Given the description of an element on the screen output the (x, y) to click on. 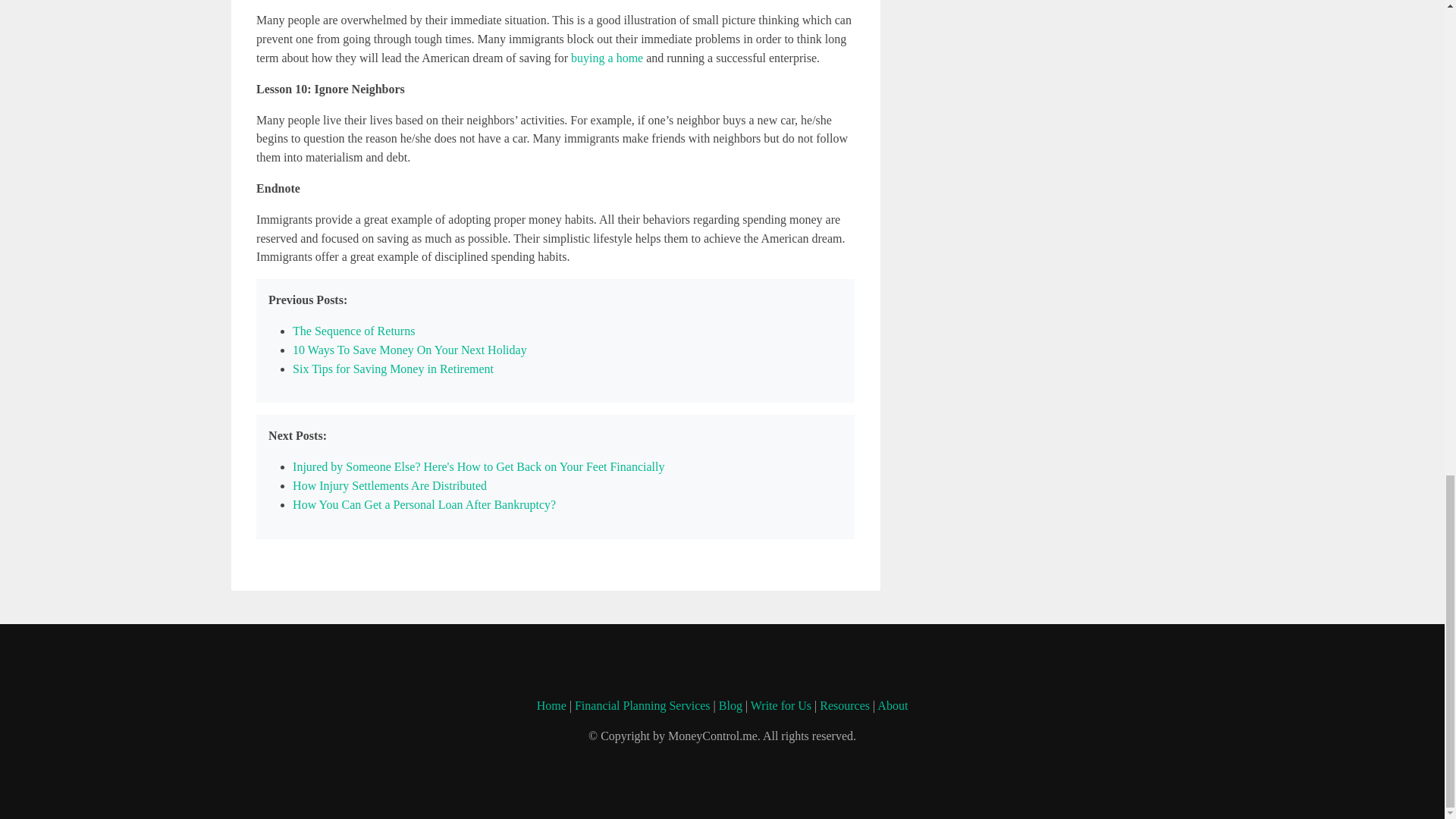
The Sequence of Returns (353, 330)
How You Can Get a Personal Loan After Bankruptcy? (424, 504)
Six Tips for Saving Money in Retirement (392, 368)
10 Ways To Save Money On Your Next Holiday (409, 349)
How Injury Settlements Are Distributed (389, 485)
buying a home (606, 57)
Home (551, 705)
